Given the description of an element on the screen output the (x, y) to click on. 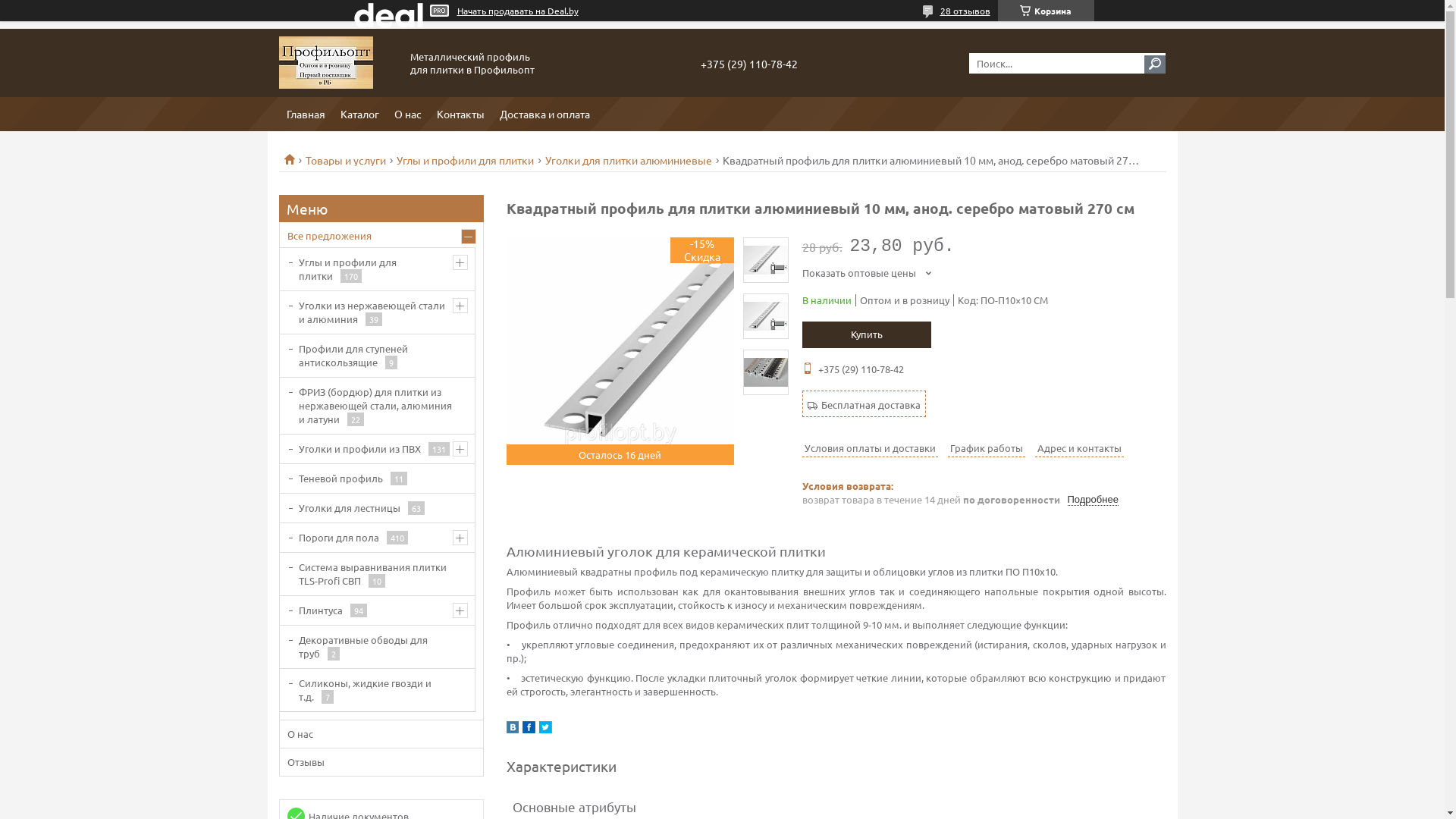
facebook Element type: hover (527, 728)
twitter Element type: hover (544, 728)
